Given the description of an element on the screen output the (x, y) to click on. 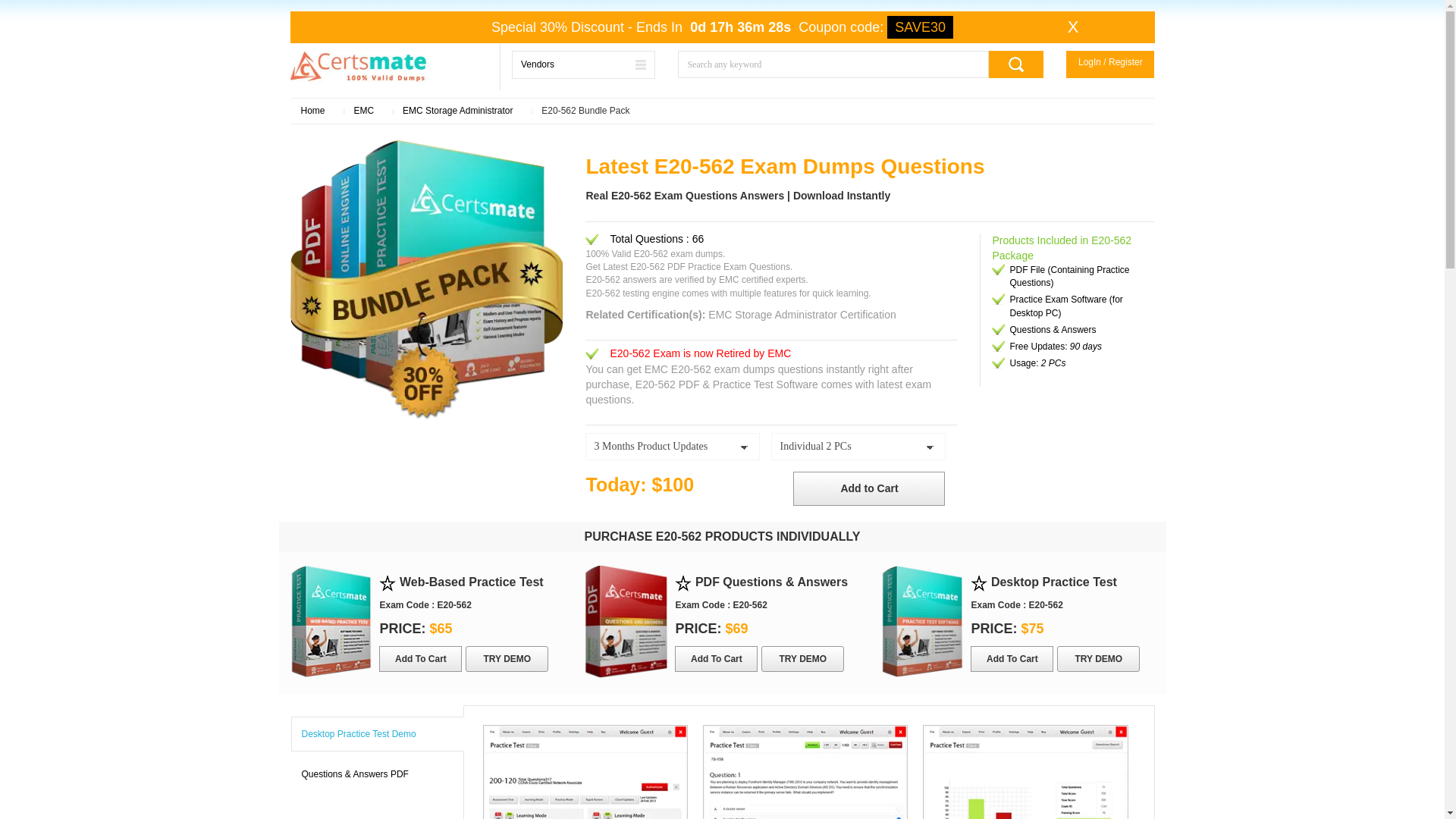
TRY DEMO (802, 658)
Home (311, 110)
EMC Storage Administrator (457, 110)
EMC (363, 110)
Add to Cart (868, 488)
Add To Cart (419, 658)
TRY DEMO (506, 658)
Add To Cart (1011, 658)
Add To Cart (716, 658)
